Given the description of an element on the screen output the (x, y) to click on. 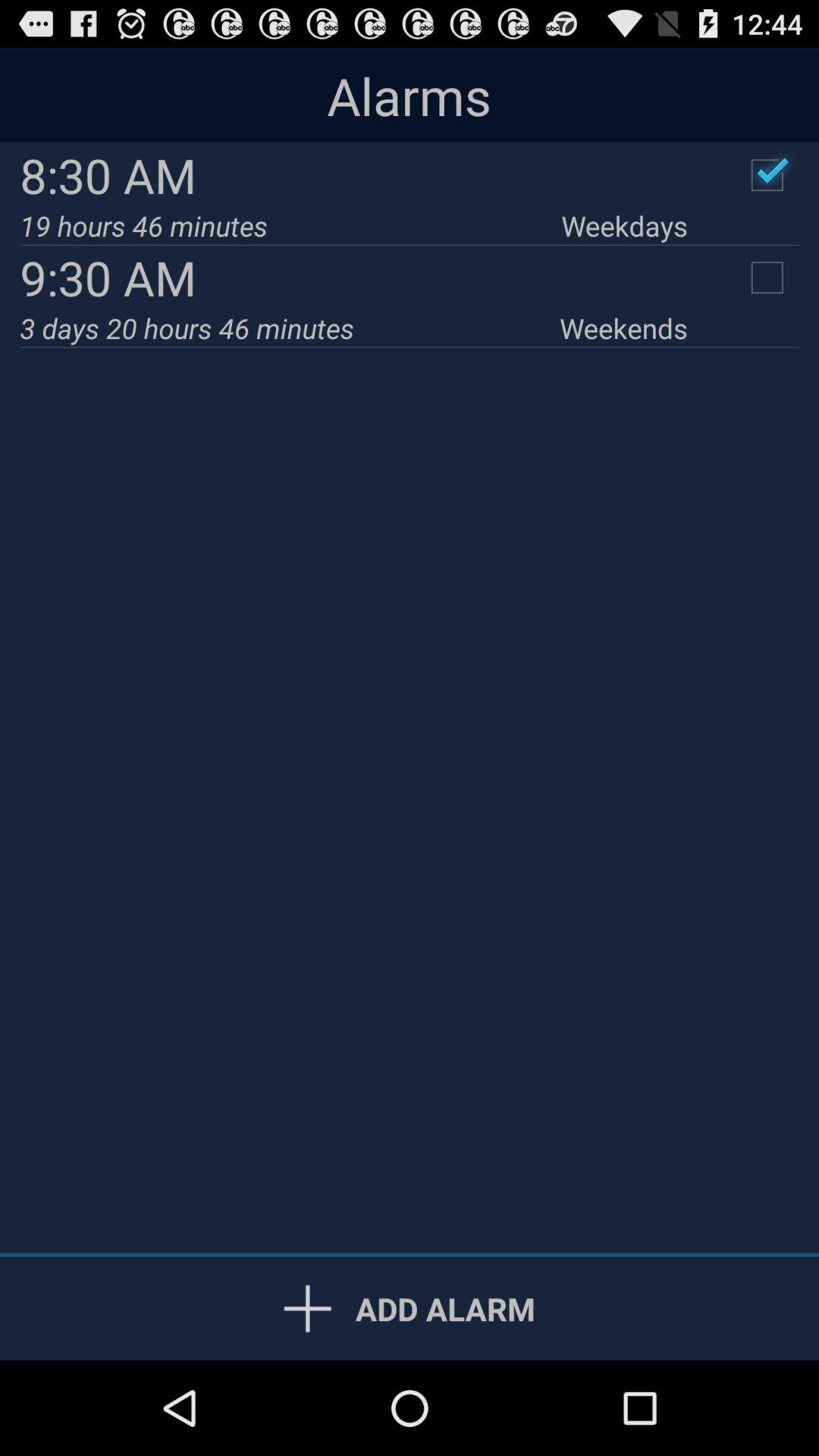
jump to the 3 days 20 app (289, 327)
